Given the description of an element on the screen output the (x, y) to click on. 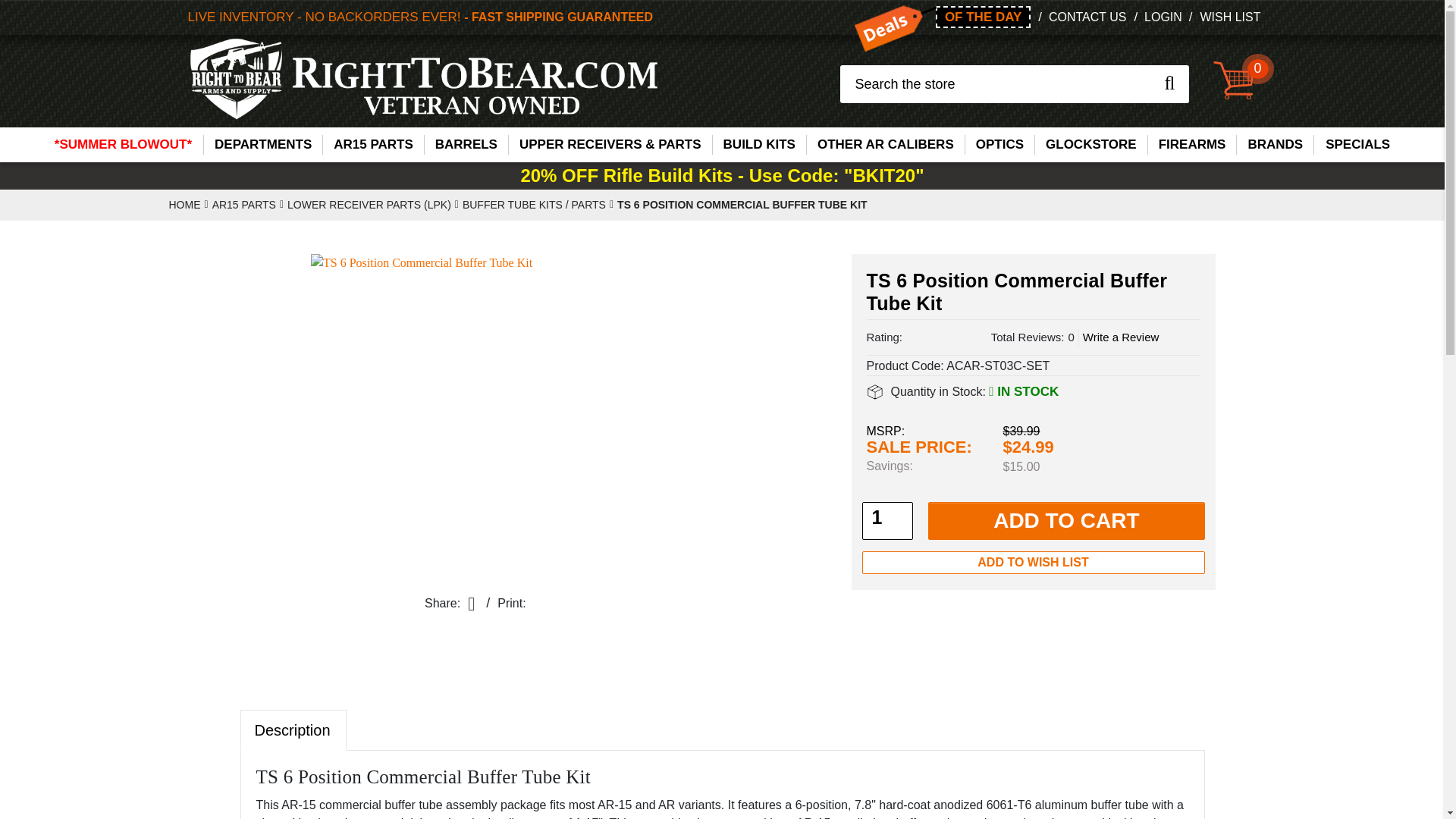
0 (1234, 83)
TS 6 Position Commercial Buffer Tube Kit (500, 416)
Add to Cart (1066, 520)
1 (877, 517)
OF THE DAY (983, 17)
CONTACT US (1087, 17)
DEPARTMENTS (262, 144)
Product rating is 0 of 5 (947, 335)
WISH LIST (1229, 17)
LOGIN (1163, 17)
